Given the description of an element on the screen output the (x, y) to click on. 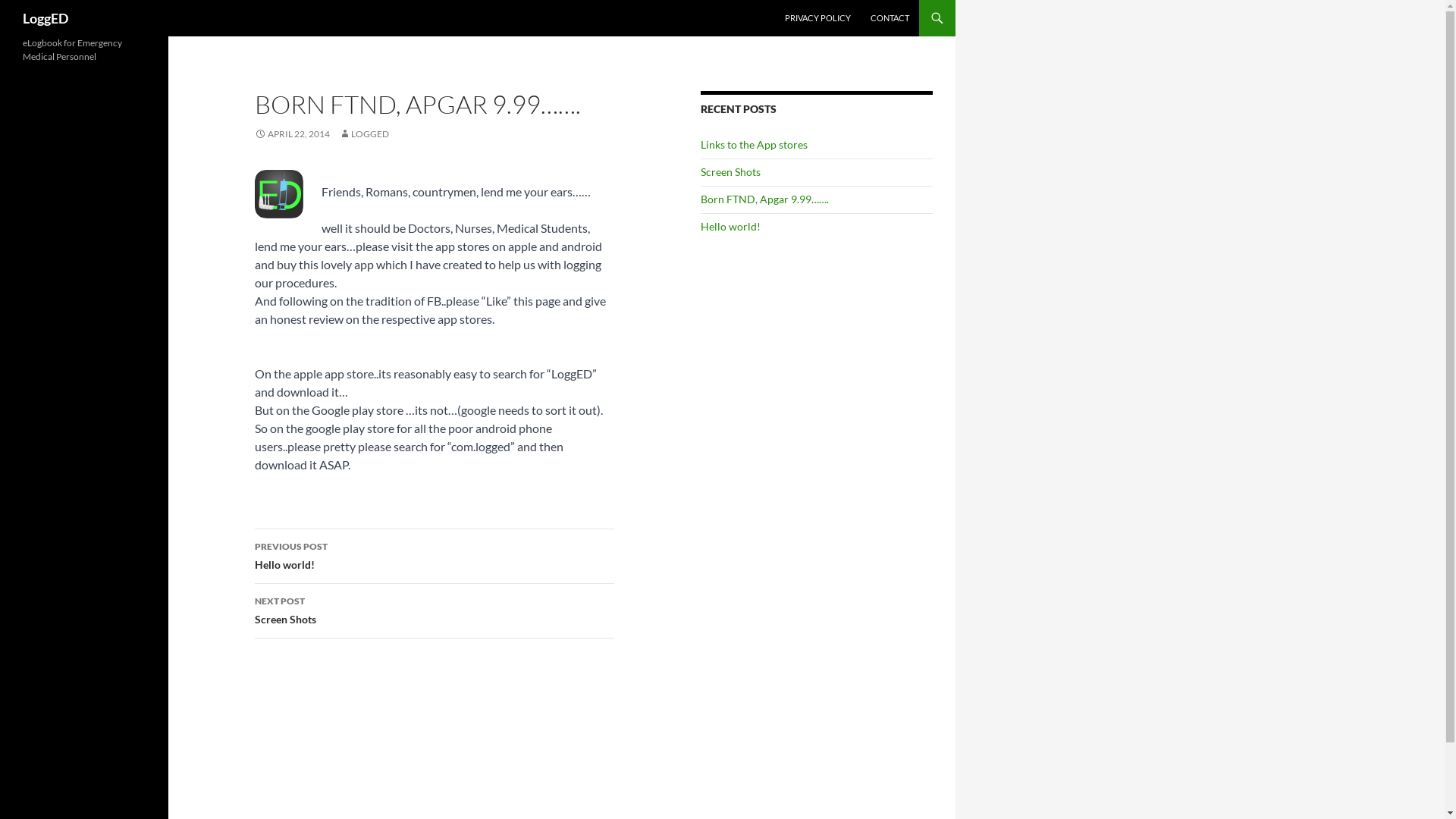
Links to the App stores Element type: text (753, 144)
Screen Shots Element type: text (730, 171)
CONTACT Element type: text (889, 18)
PREVIOUS POST
Hello world! Element type: text (434, 556)
NEXT POST
Screen Shots Element type: text (434, 610)
Hello world! Element type: text (730, 225)
LoggED Element type: text (45, 18)
PRIVACY POLICY Element type: text (817, 18)
LOGGED Element type: text (363, 133)
APRIL 22, 2014 Element type: text (291, 133)
